Given the description of an element on the screen output the (x, y) to click on. 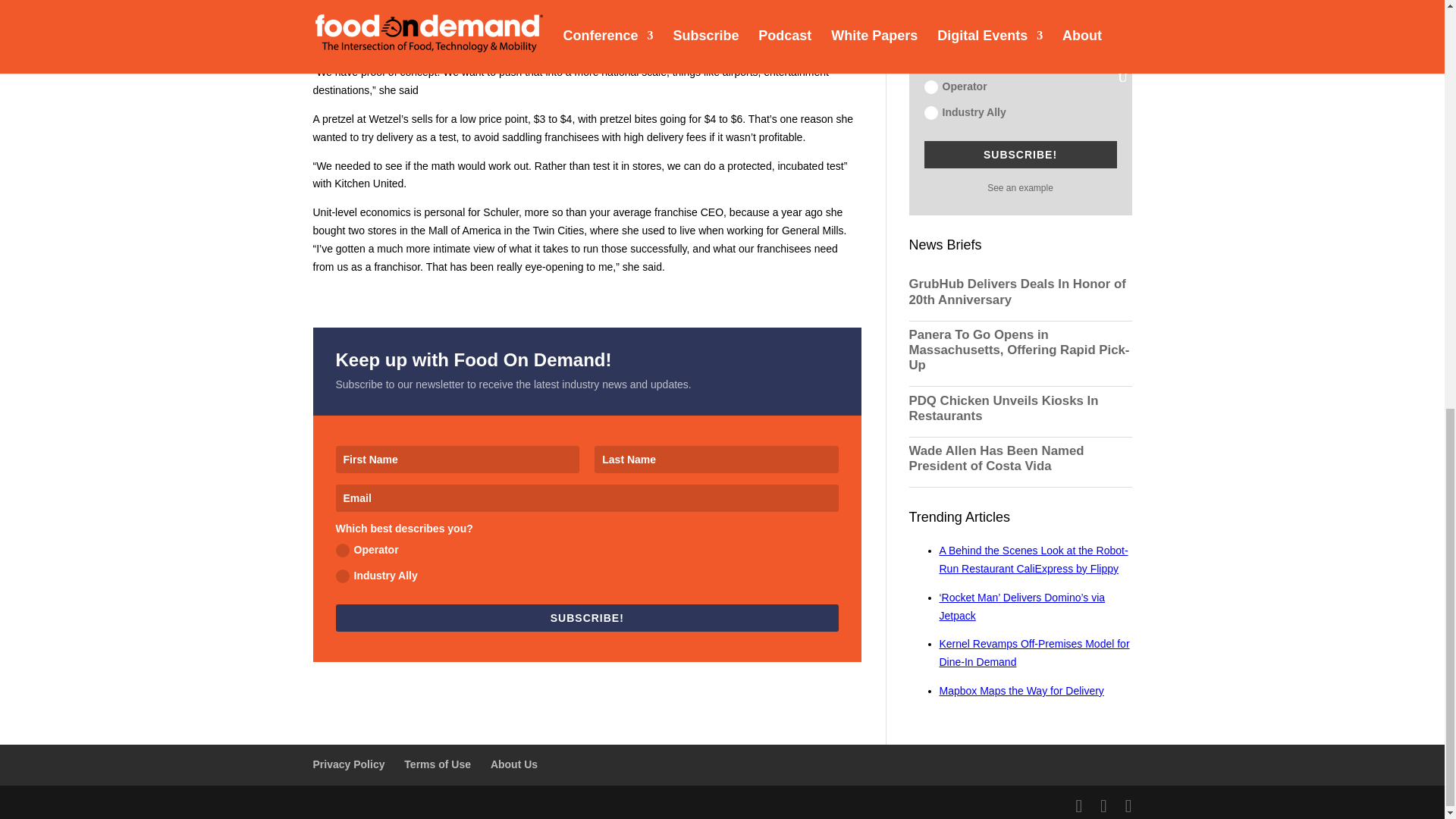
SUBSCRIBE! (586, 616)
About Us (513, 764)
See an example (1019, 187)
Privacy Policy (348, 764)
GrubHub Delivers Deals In Honor of 20th Anniversary (1019, 291)
Terms of Use (437, 764)
PDQ Chicken Unveils Kiosks In Restaurants (1019, 408)
SUBSCRIBE! (1019, 154)
Panera To Go Opens in Massachusetts, Offering Rapid Pick-Up (1019, 350)
Wade Allen Has Been Named President of Costa Vida (1019, 458)
